Given the description of an element on the screen output the (x, y) to click on. 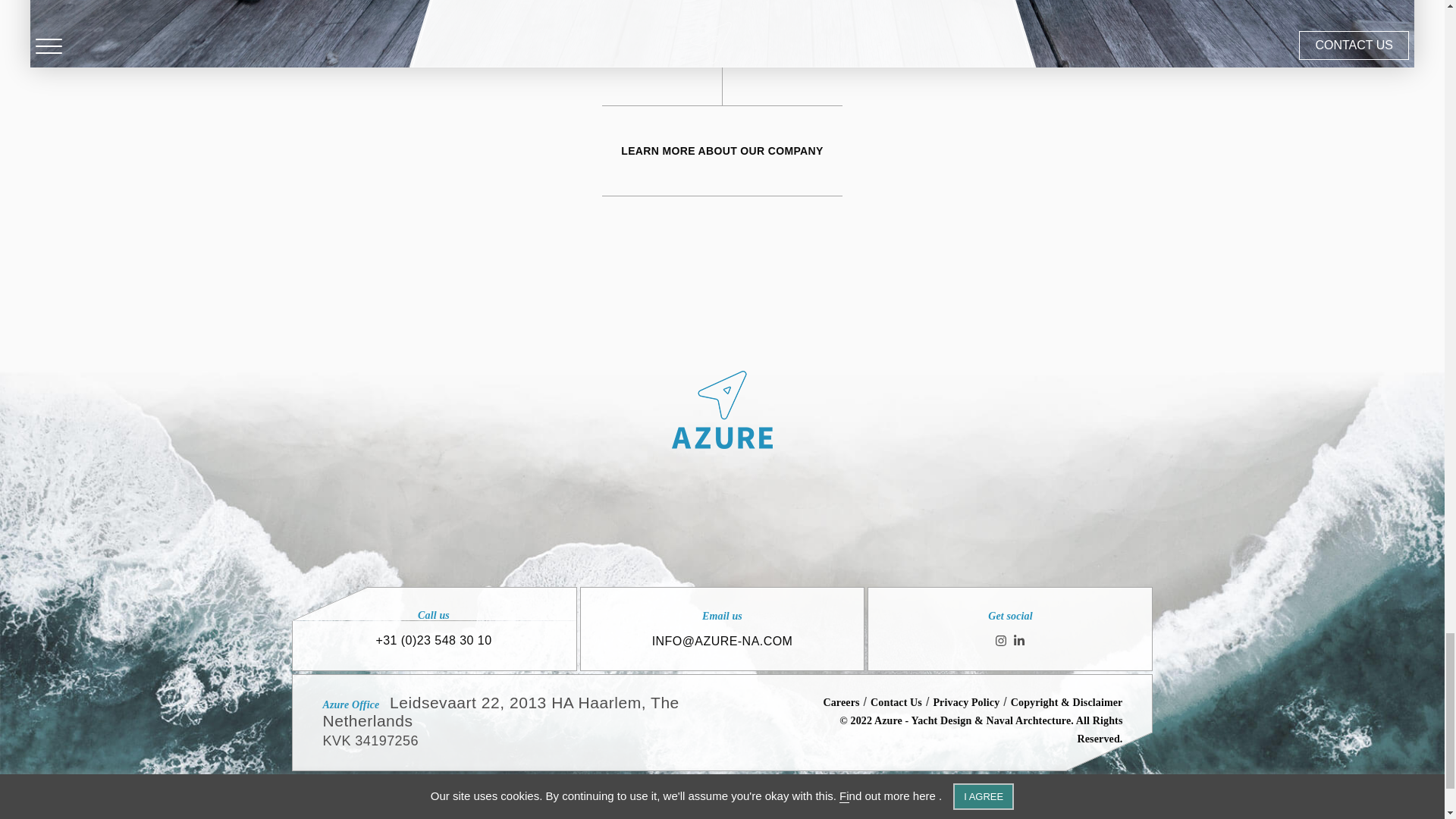
learn more about our company (721, 150)
About-ERIK SPEK (721, 33)
LEARN MORE ABOUT OUR COMPANY (721, 150)
Careers (840, 702)
Privacy Policy (965, 702)
Contact Us (895, 702)
